Given the description of an element on the screen output the (x, y) to click on. 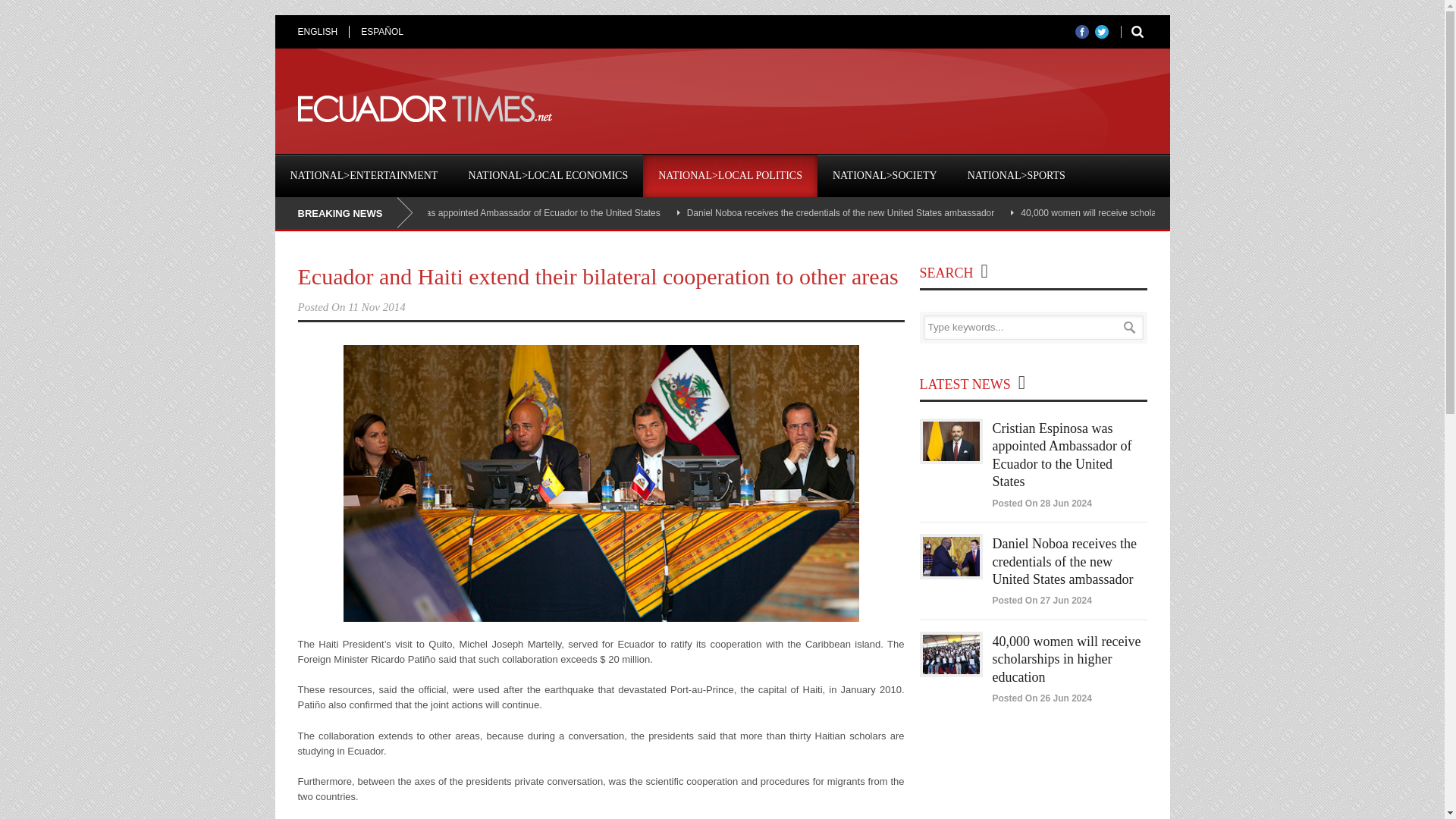
ENGLISH (323, 31)
Advertisement (870, 109)
Posted On 28 Jun 2024 (1040, 502)
Advertisement (1032, 781)
11 Nov 2014 (376, 306)
Type keywords... (1032, 327)
